Given the description of an element on the screen output the (x, y) to click on. 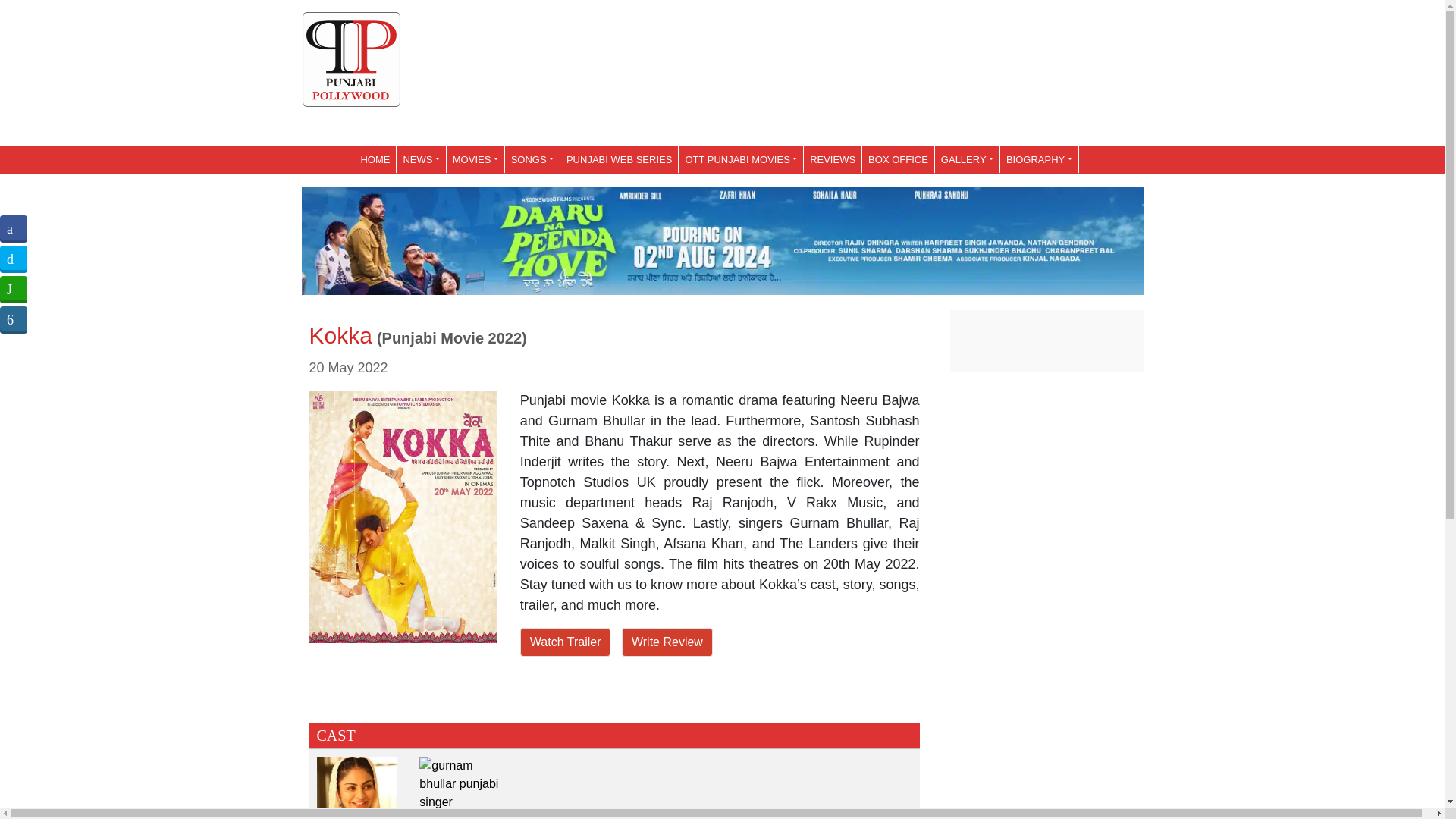
REVIEWS (832, 159)
SONGS (532, 159)
NEWS (420, 159)
HOME (374, 159)
BOX OFFICE (897, 159)
MOVIES (474, 159)
BIOGRAPHY (1039, 159)
GALLERY (966, 159)
OTT PUNJABI MOVIES (740, 159)
PUNJABI WEB SERIES (619, 159)
